Given the description of an element on the screen output the (x, y) to click on. 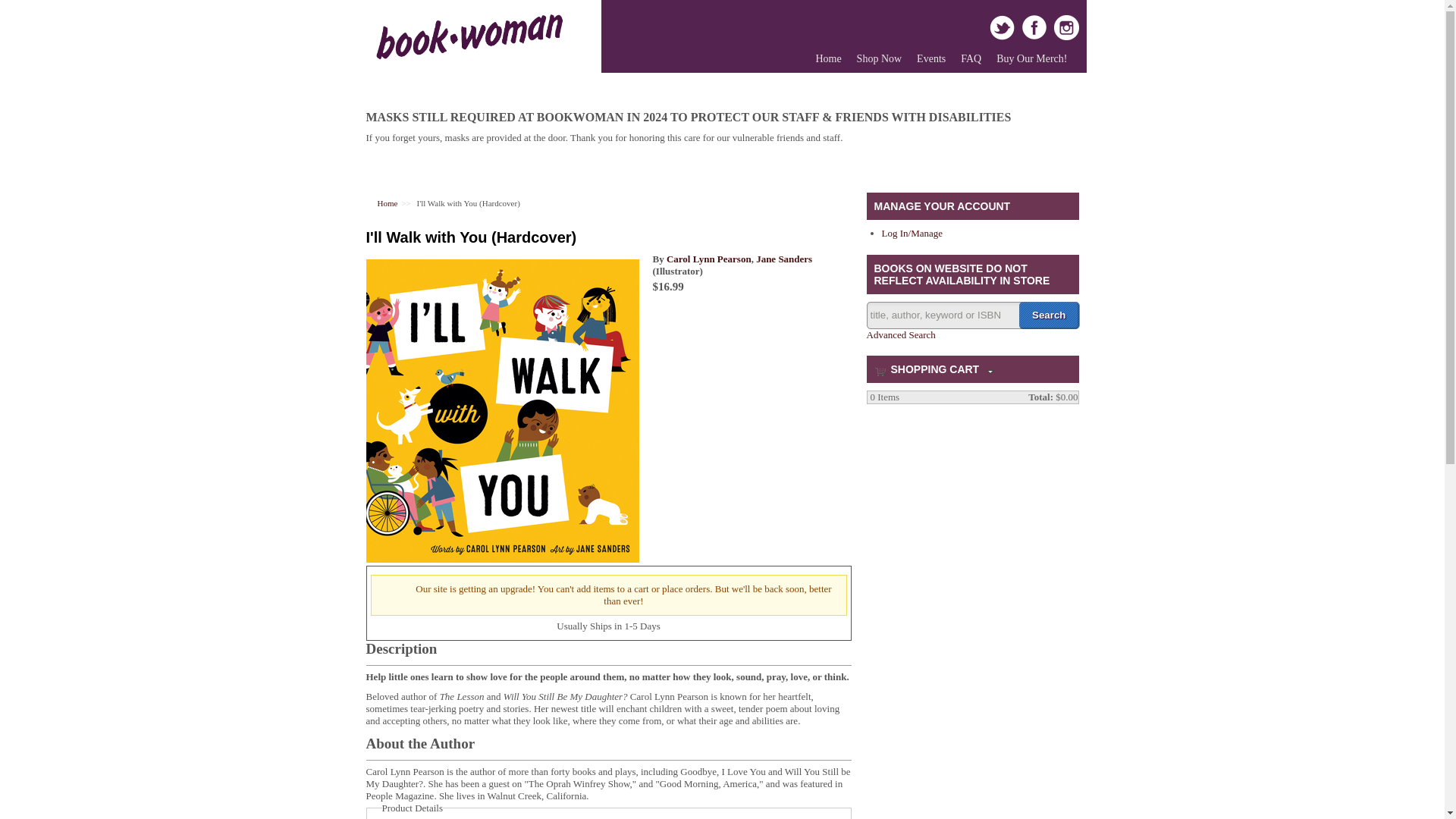
Events (930, 58)
Search (1048, 315)
Buy Our Merch! (1031, 58)
Search (1048, 315)
Home (828, 58)
Enter the terms you wish to search for. (972, 315)
Home (387, 203)
Shop Now (879, 58)
Carol Lynn Pearson (708, 258)
